Given the description of an element on the screen output the (x, y) to click on. 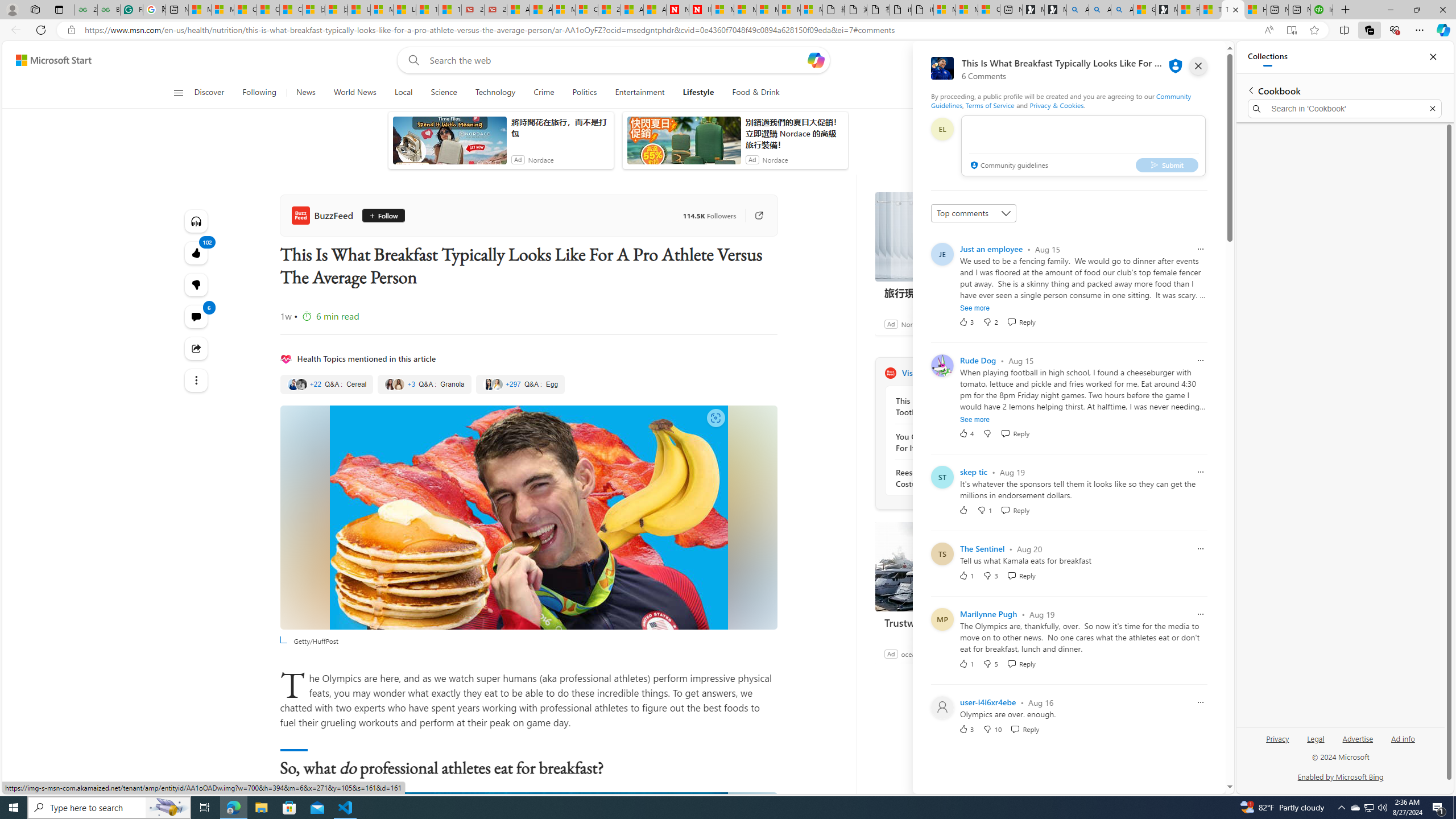
View comments 6 Comment (196, 316)
How to Use a TV as a Computer Monitor (1255, 9)
Alabama high school quarterback dies - Search (1077, 9)
Cloud Computing Services | Microsoft Azure (586, 9)
